Given the description of an element on the screen output the (x, y) to click on. 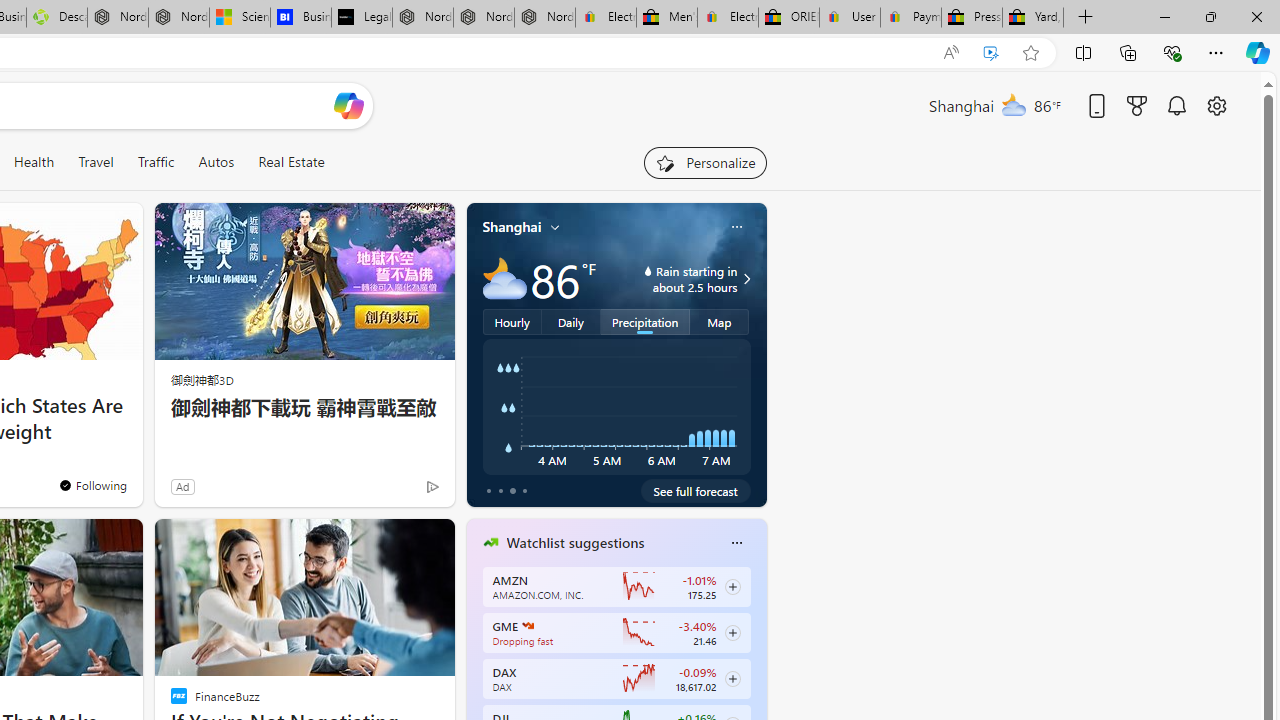
GAMESTOP CORP. (528, 625)
Rain starting in about 2.5 hours (744, 278)
Real Estate (291, 161)
previous (476, 670)
See full forecast (695, 490)
My location (555, 227)
tab-0 (488, 490)
